Given the description of an element on the screen output the (x, y) to click on. 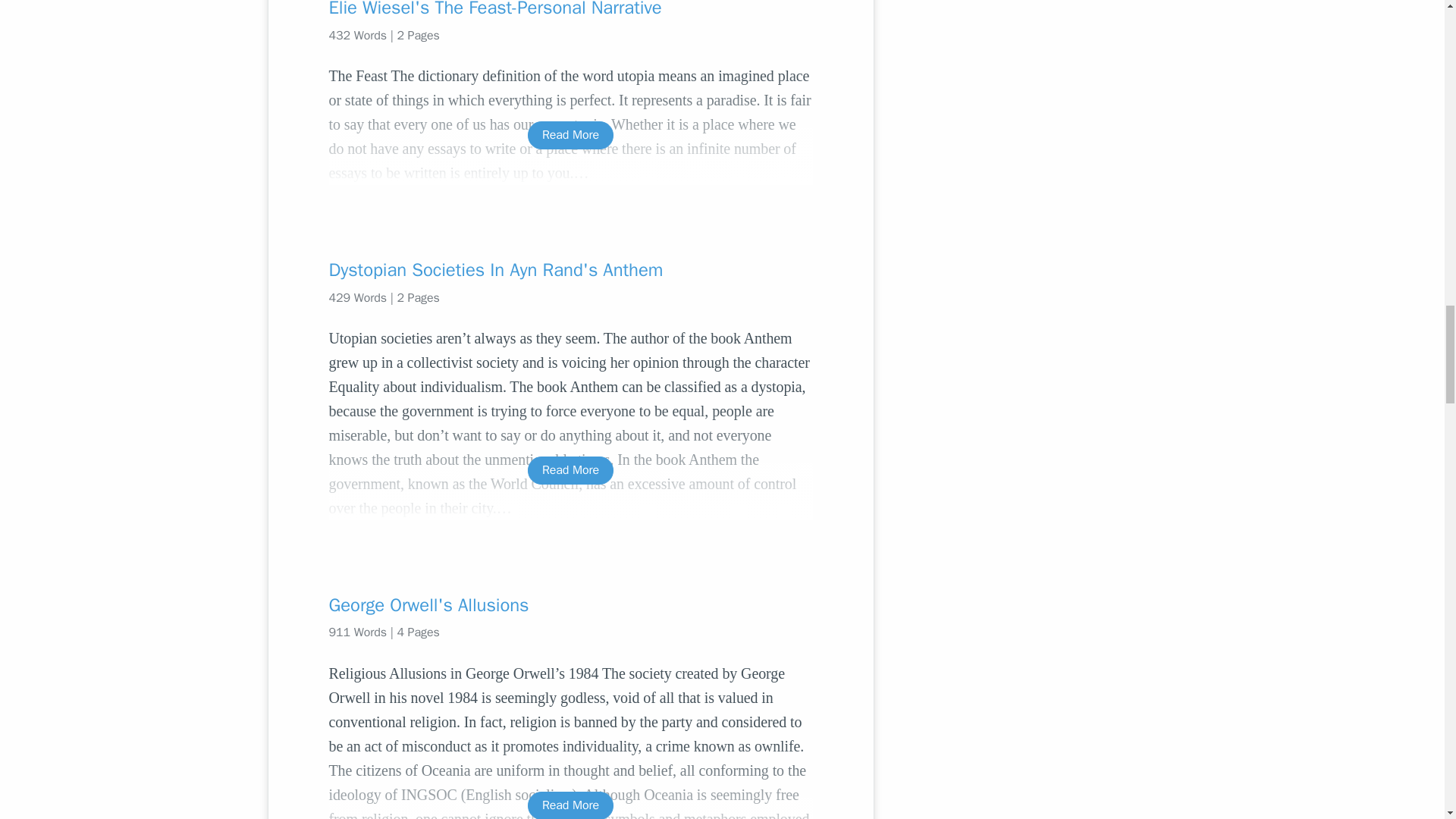
George Orwell's Allusions (570, 604)
Read More (569, 470)
Elie Wiesel's The Feast-Personal Narrative (570, 9)
Read More (569, 805)
Read More (569, 135)
Dystopian Societies In Ayn Rand's Anthem (570, 269)
